Given the description of an element on the screen output the (x, y) to click on. 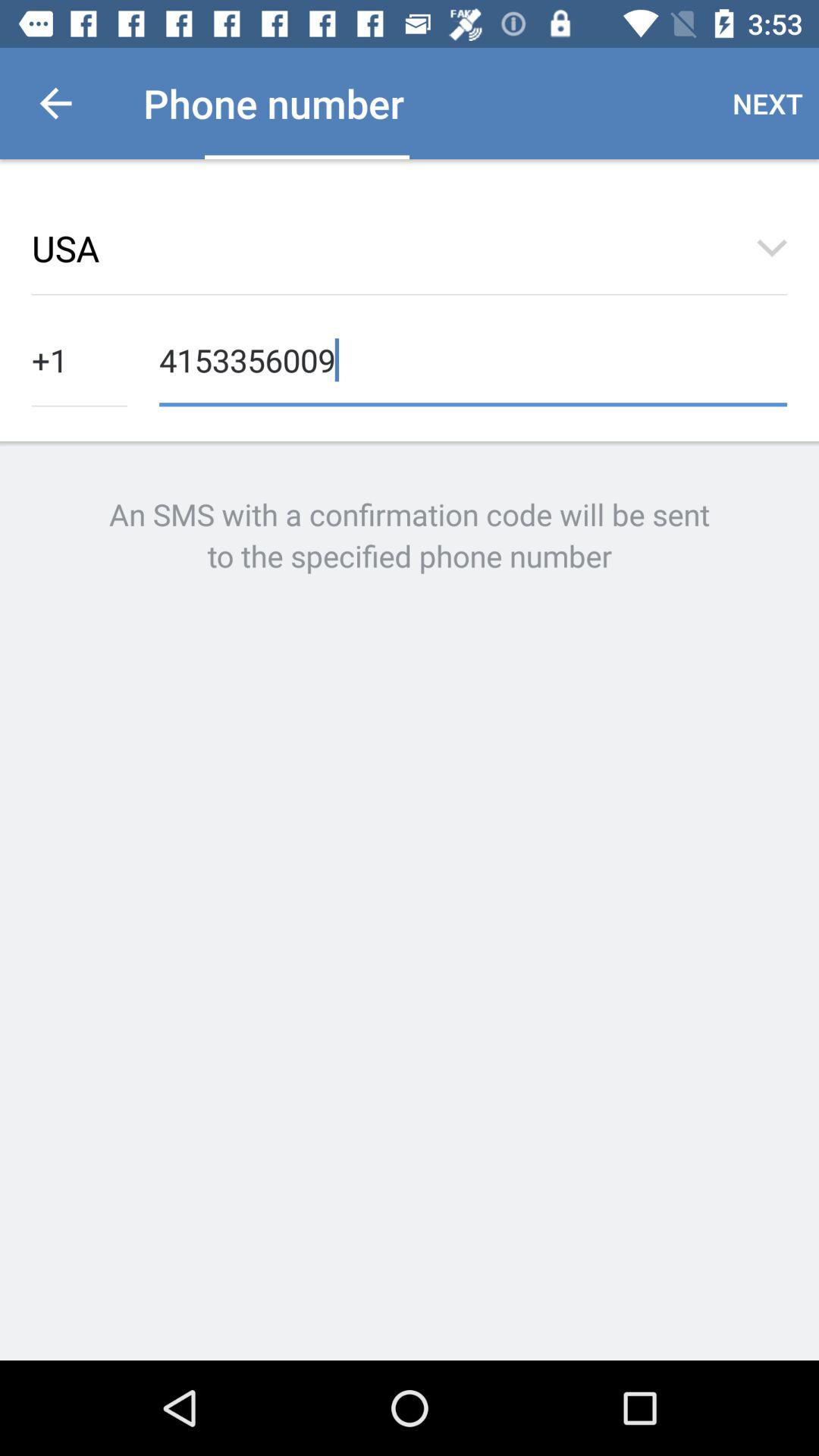
launch the icon to the right of the +1 (473, 358)
